Given the description of an element on the screen output the (x, y) to click on. 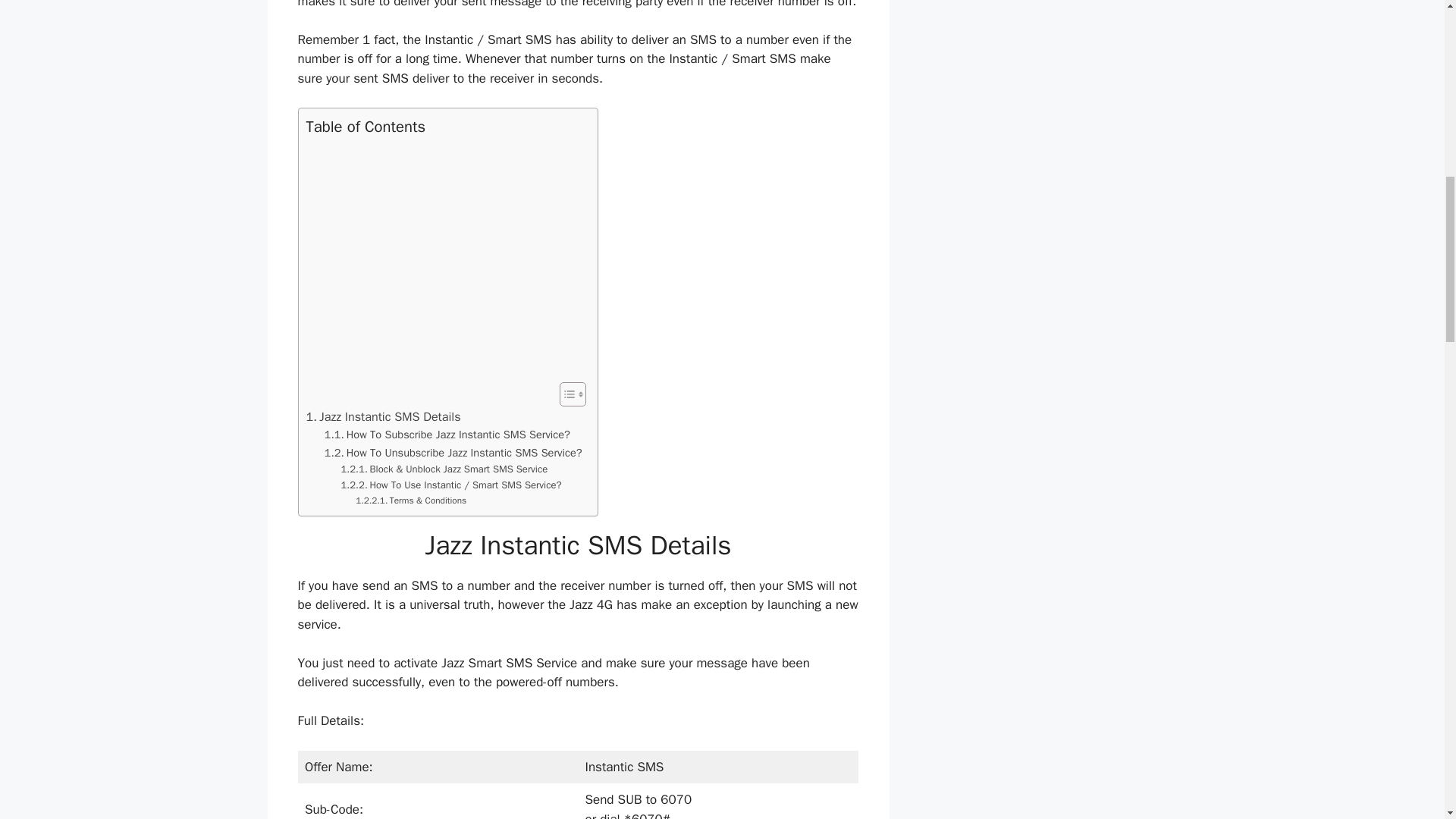
How To Unsubscribe Jazz Instantic SMS Service? (453, 452)
How To Subscribe Jazz Instantic SMS Service? (447, 434)
How To Subscribe Jazz Instantic SMS Service? (447, 434)
Jazz Instantic SMS Details (383, 415)
Jazz Instantic SMS Details (383, 415)
Advertisement (443, 259)
How To Unsubscribe Jazz Instantic SMS Service? (453, 452)
